Given the description of an element on the screen output the (x, y) to click on. 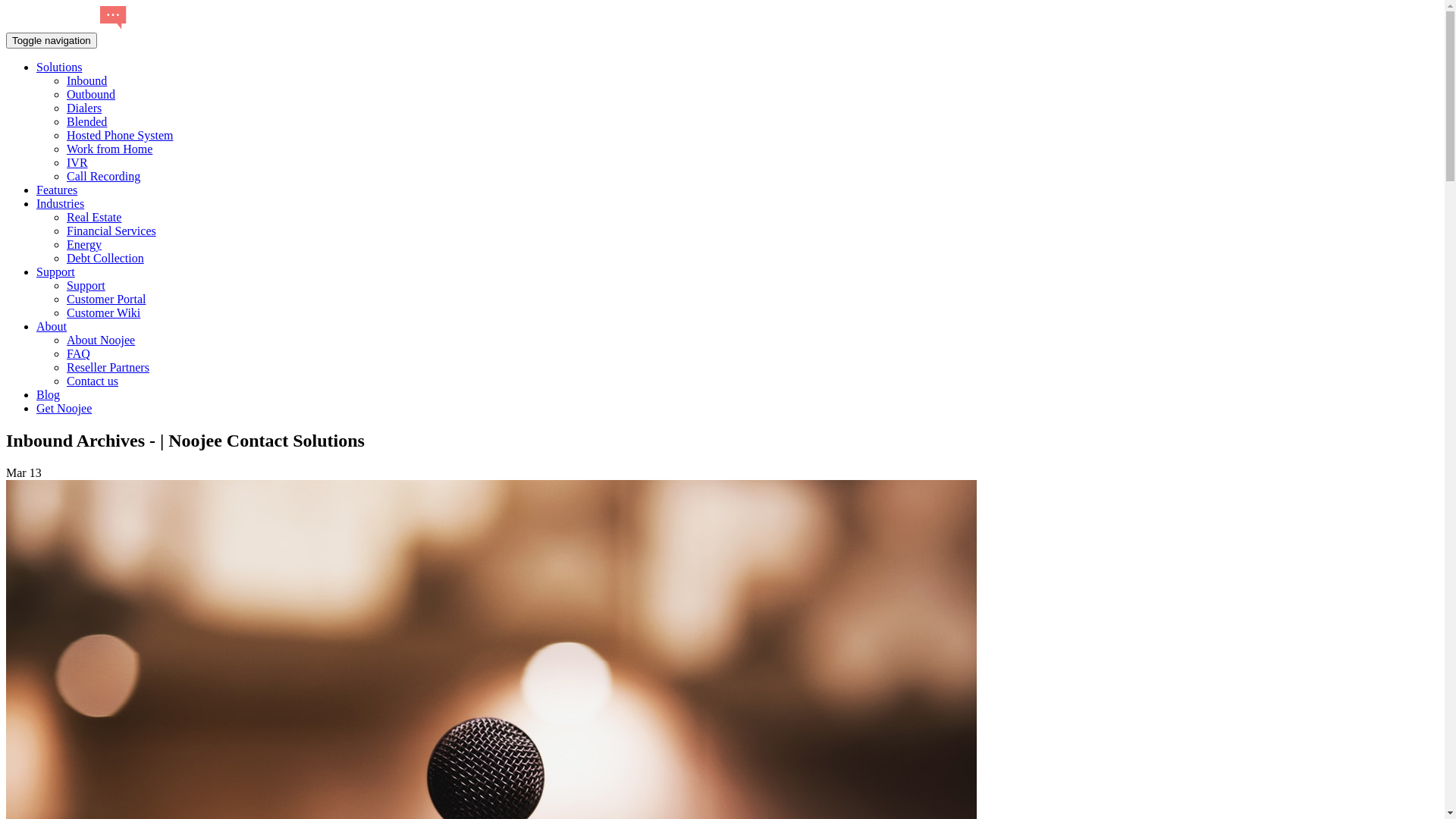
Customer Wiki Element type: text (103, 312)
Hosted Phone System Element type: text (119, 134)
Call Recording Element type: text (103, 175)
IVR Element type: text (76, 162)
Financial Services Element type: text (111, 230)
Work from Home Element type: text (109, 148)
About Element type: text (51, 326)
Contact us Element type: text (92, 380)
Toggle navigation Element type: text (51, 40)
Blended Element type: text (86, 121)
Dialers Element type: text (83, 107)
Features Element type: text (56, 189)
Solutions Element type: text (58, 66)
Support Element type: text (85, 285)
Blog Element type: text (47, 394)
Support Element type: text (55, 271)
Real Estate Element type: text (93, 216)
Customer Portal Element type: text (105, 298)
Debt Collection Element type: text (105, 257)
Inbound Element type: text (86, 80)
FAQ Element type: text (78, 353)
About Noojee Element type: text (100, 339)
Energy Element type: text (83, 244)
Outbound Element type: text (90, 93)
Reseller Partners Element type: text (107, 366)
Industries Element type: text (60, 203)
Get Noojee Element type: text (63, 407)
